Given the description of an element on the screen output the (x, y) to click on. 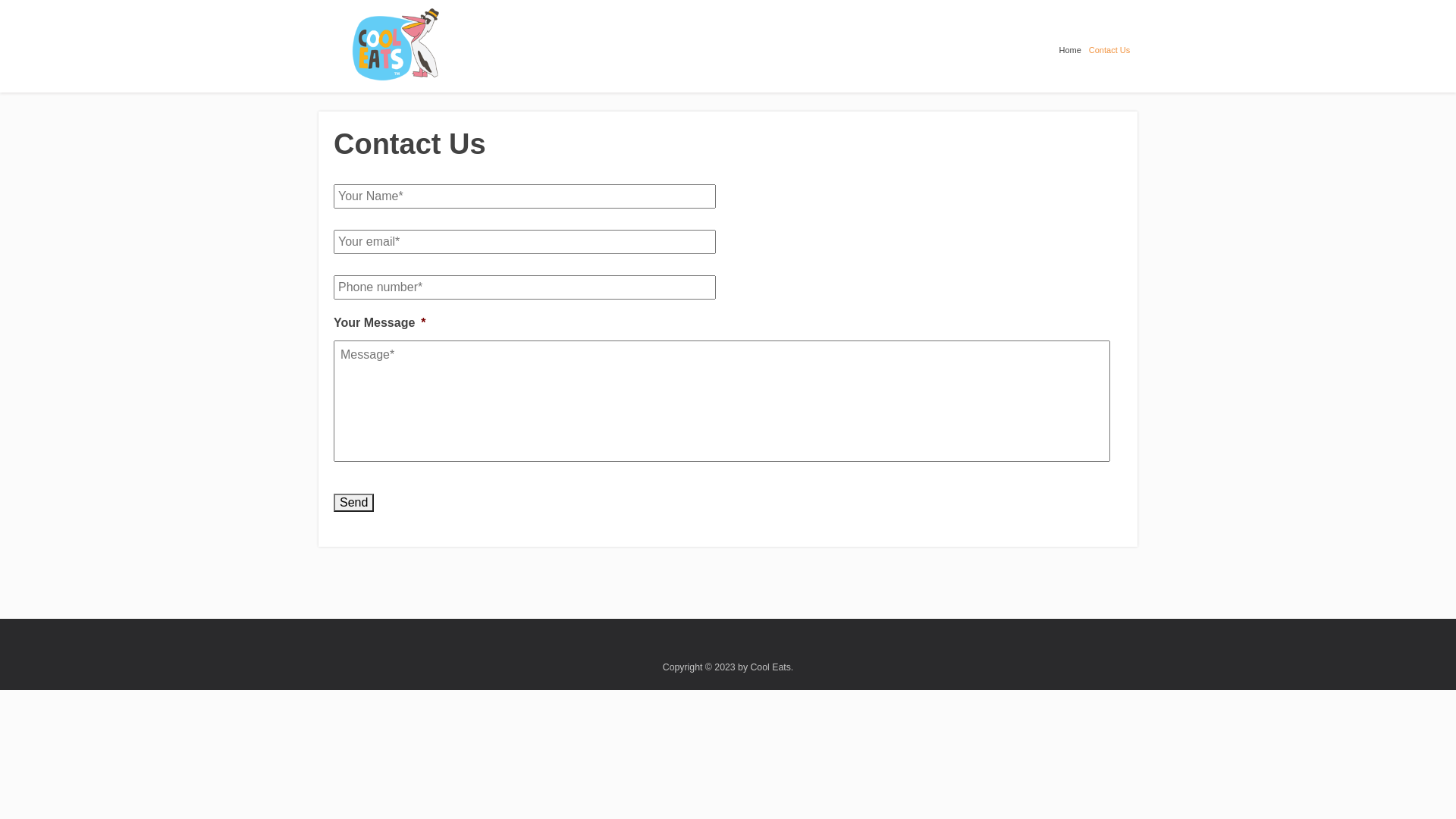
Contact Us Element type: text (1112, 45)
Home Element type: text (1073, 45)
Send Element type: text (353, 501)
